Given the description of an element on the screen output the (x, y) to click on. 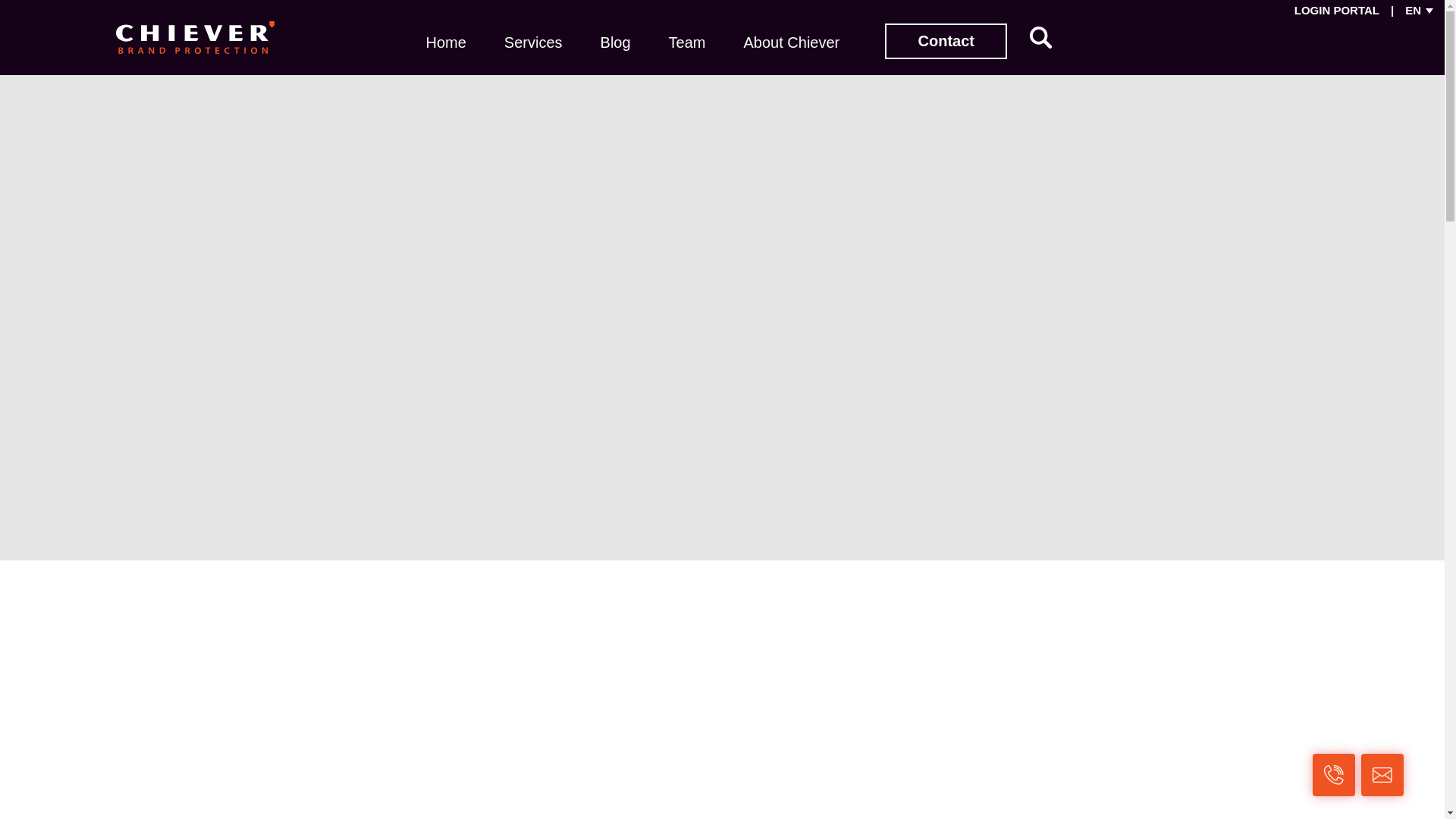
About Chiever (791, 41)
Services (533, 41)
Contact (946, 40)
